Given the description of an element on the screen output the (x, y) to click on. 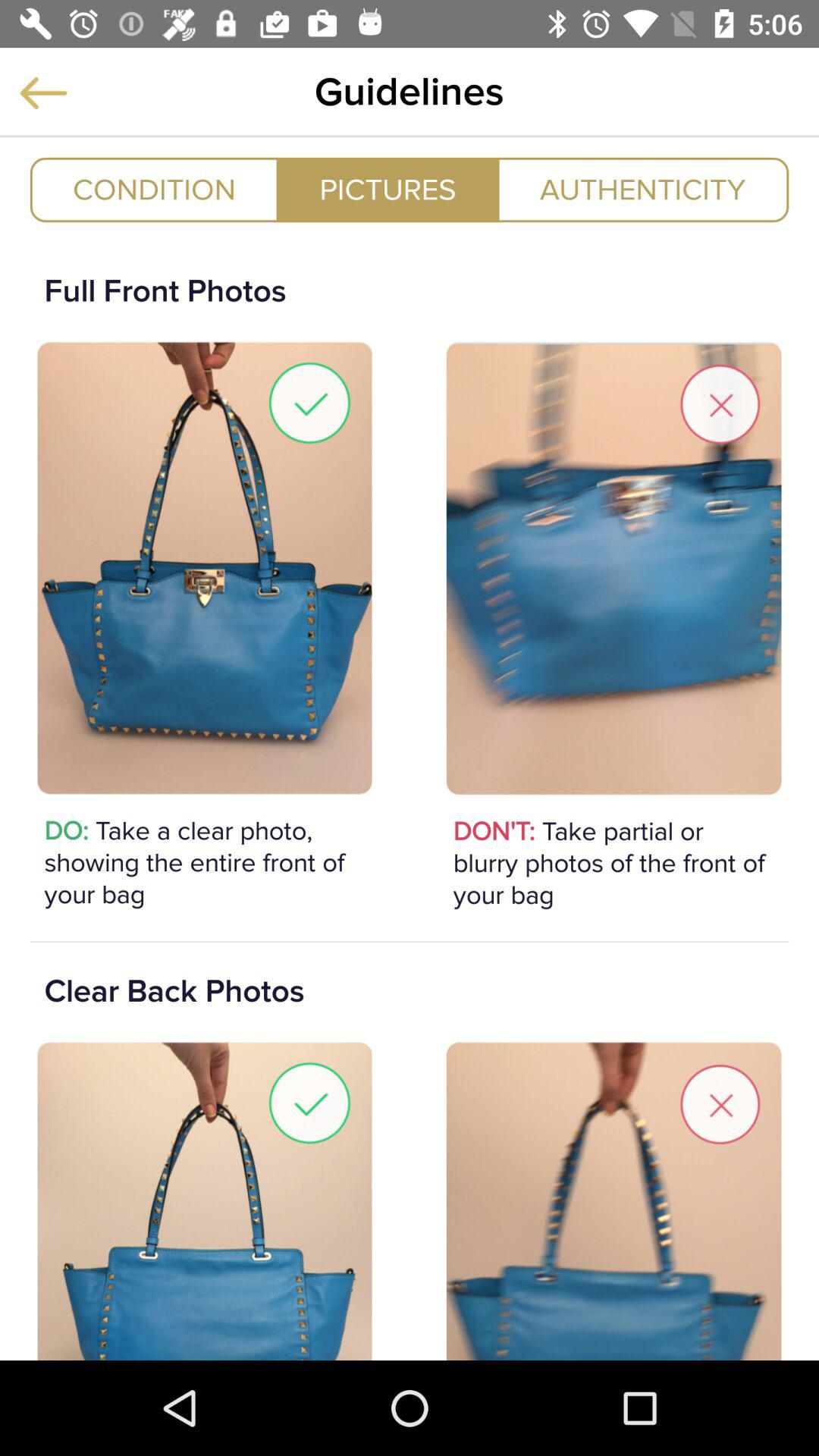
turn off the item to the right of condition (387, 189)
